Given the description of an element on the screen output the (x, y) to click on. 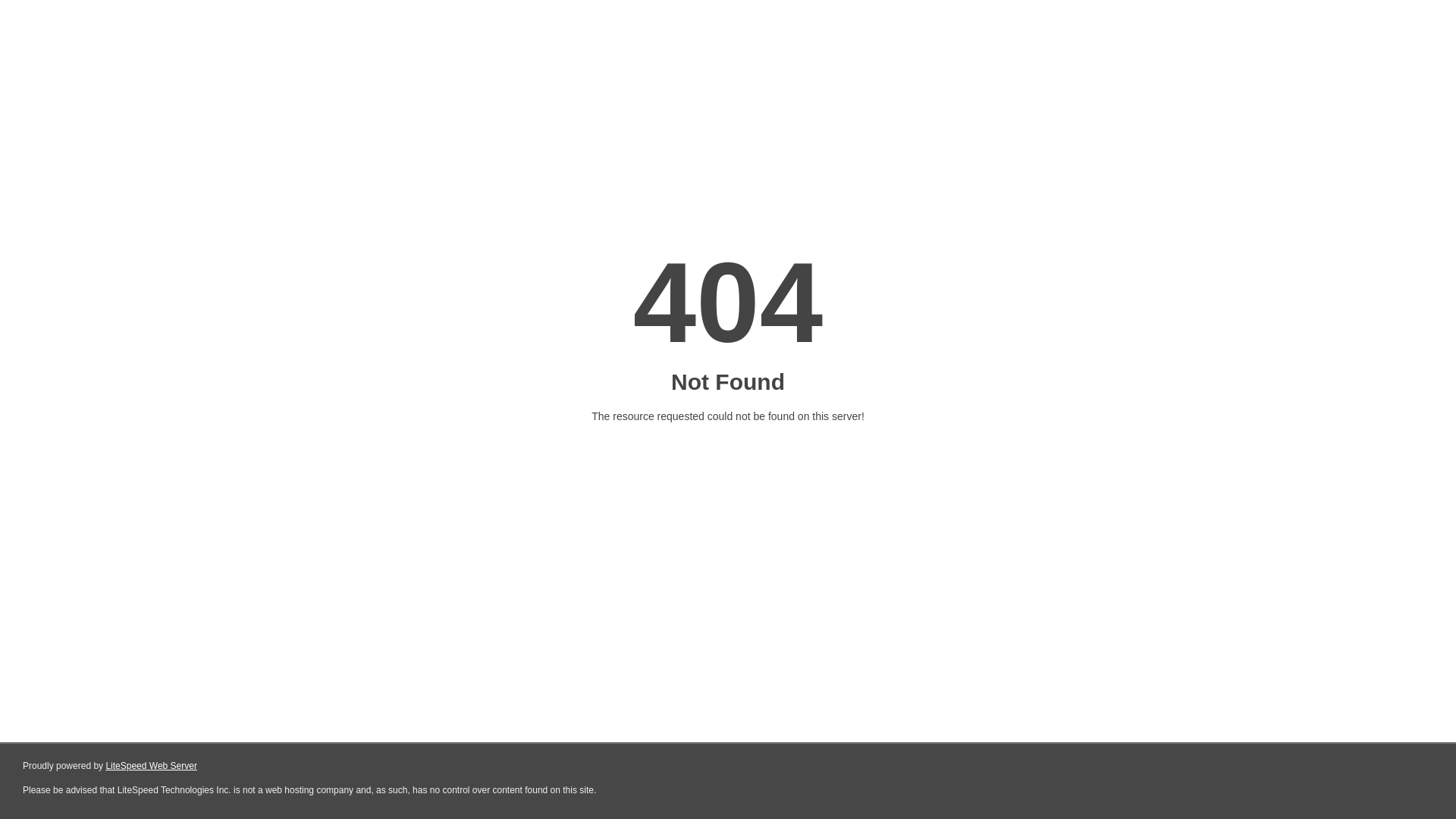
LiteSpeed Web Server Element type: text (151, 765)
